Given the description of an element on the screen output the (x, y) to click on. 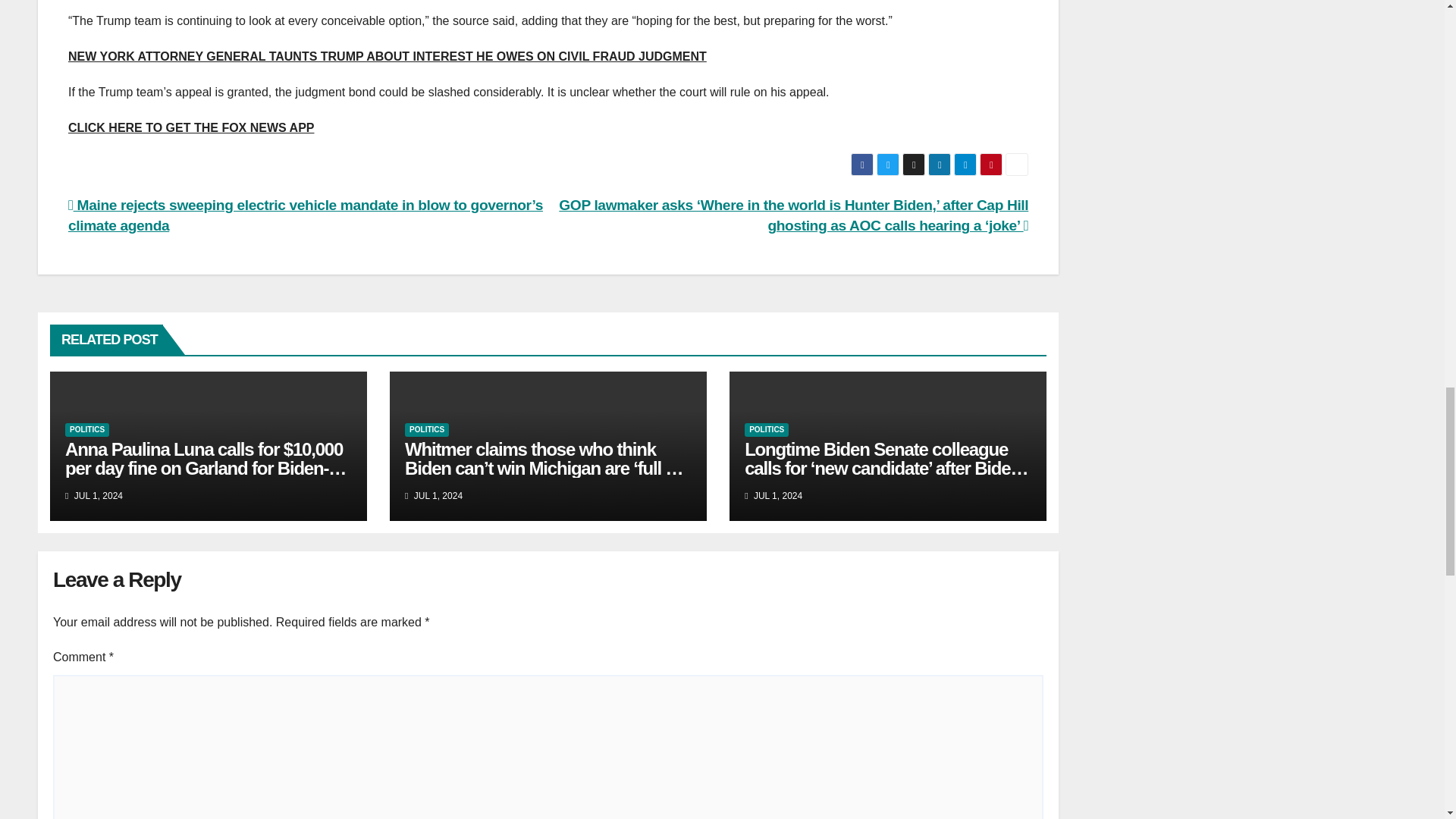
POLITICS (766, 429)
POLITICS (426, 429)
POLITICS (87, 429)
